Given the description of an element on the screen output the (x, y) to click on. 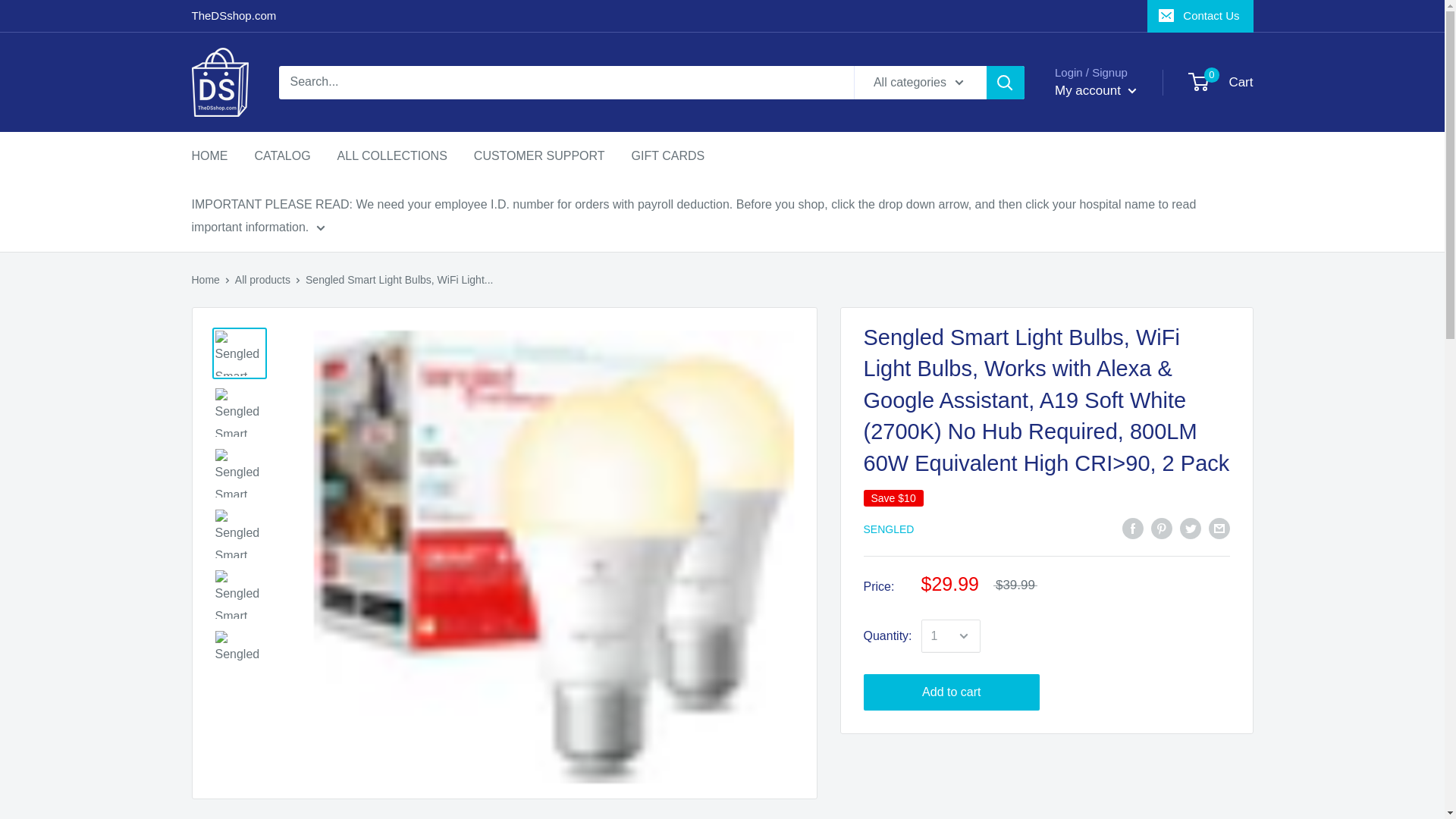
ALL COLLECTIONS (391, 155)
GIFT CARDS (667, 155)
HOME (208, 155)
CATALOG (282, 155)
My account (1221, 82)
Contact Us (1095, 90)
CUSTOMER SUPPORT (1199, 15)
